Given the description of an element on the screen output the (x, y) to click on. 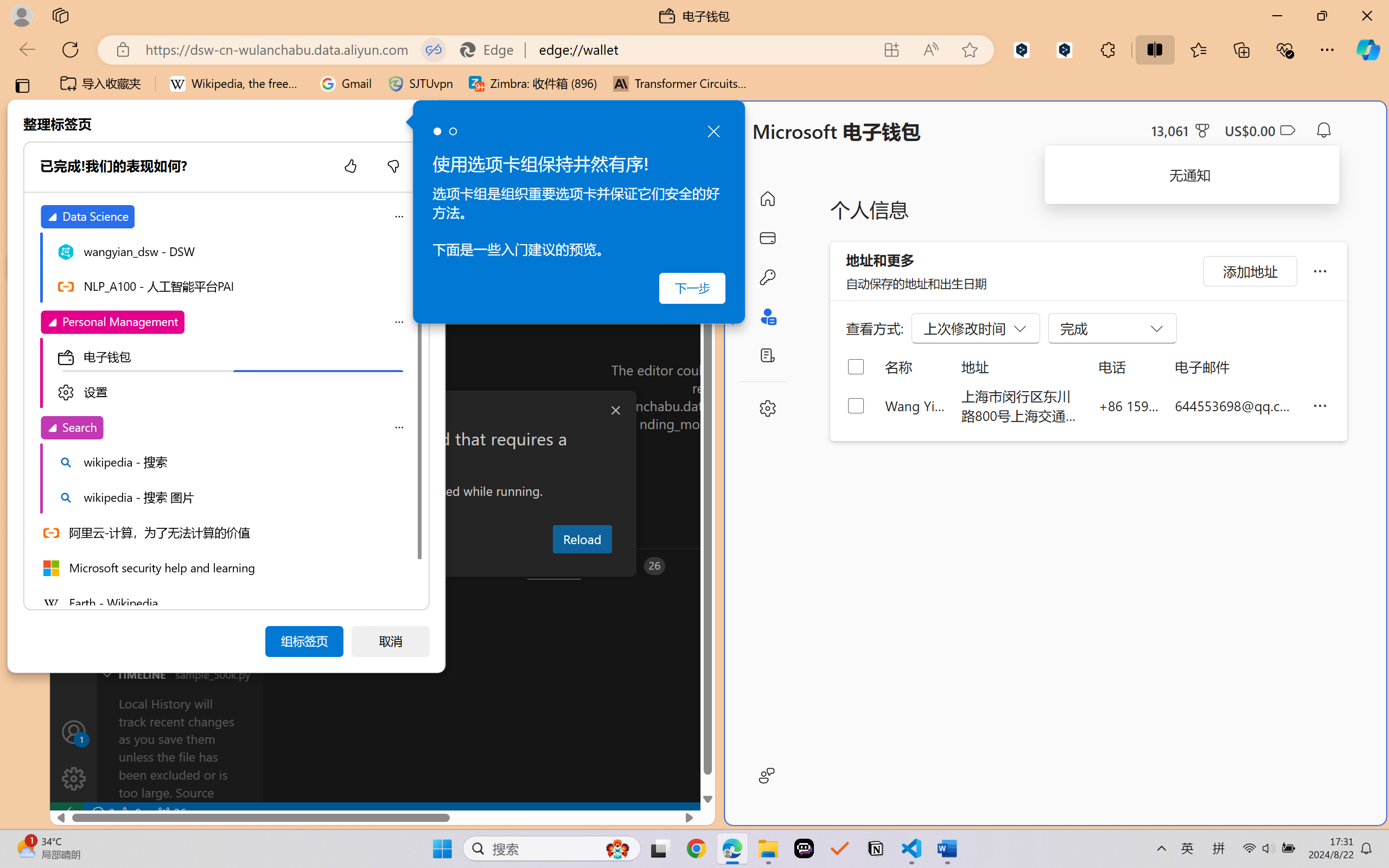
+86 159 0032 4640 (1128, 405)
Gmail (345, 83)
Close Dialog (615, 410)
Outline Section (179, 652)
Class: actions-container (381, 410)
